Given the description of an element on the screen output the (x, y) to click on. 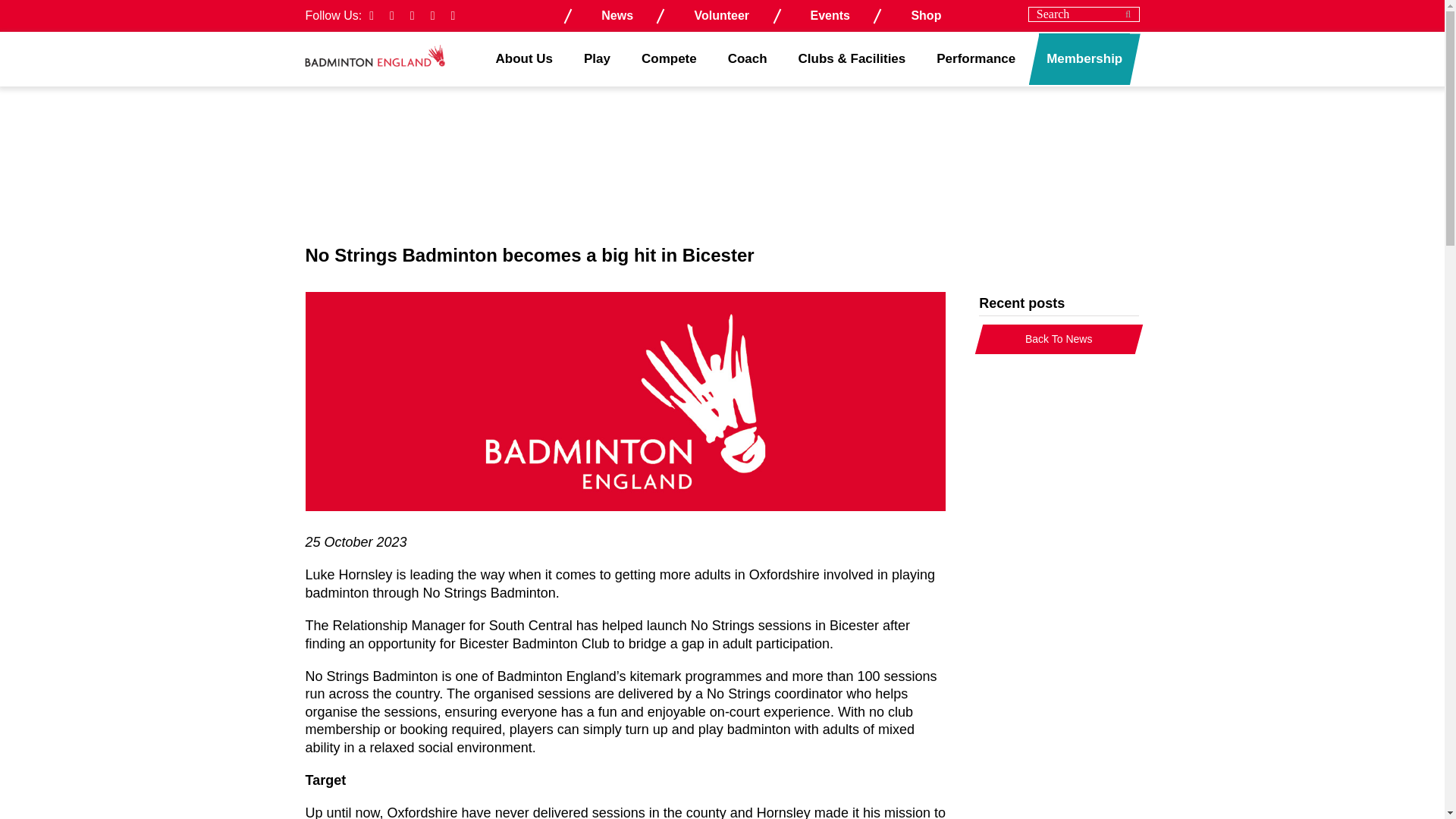
Compete (669, 59)
About Us (524, 59)
News (617, 15)
Events (830, 15)
Shop (925, 15)
Volunteer (721, 15)
